Given the description of an element on the screen output the (x, y) to click on. 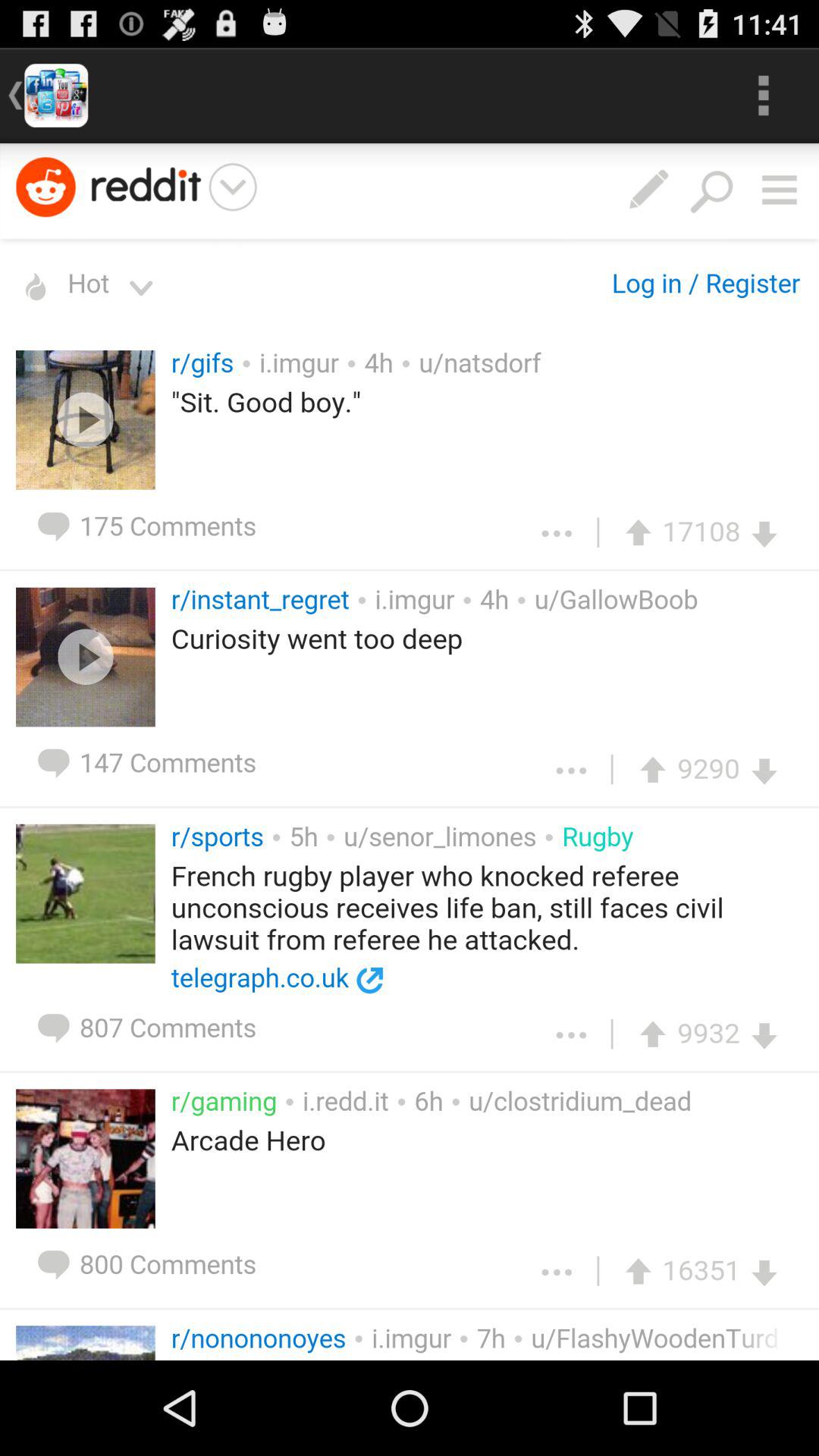
move page (409, 751)
